Given the description of an element on the screen output the (x, y) to click on. 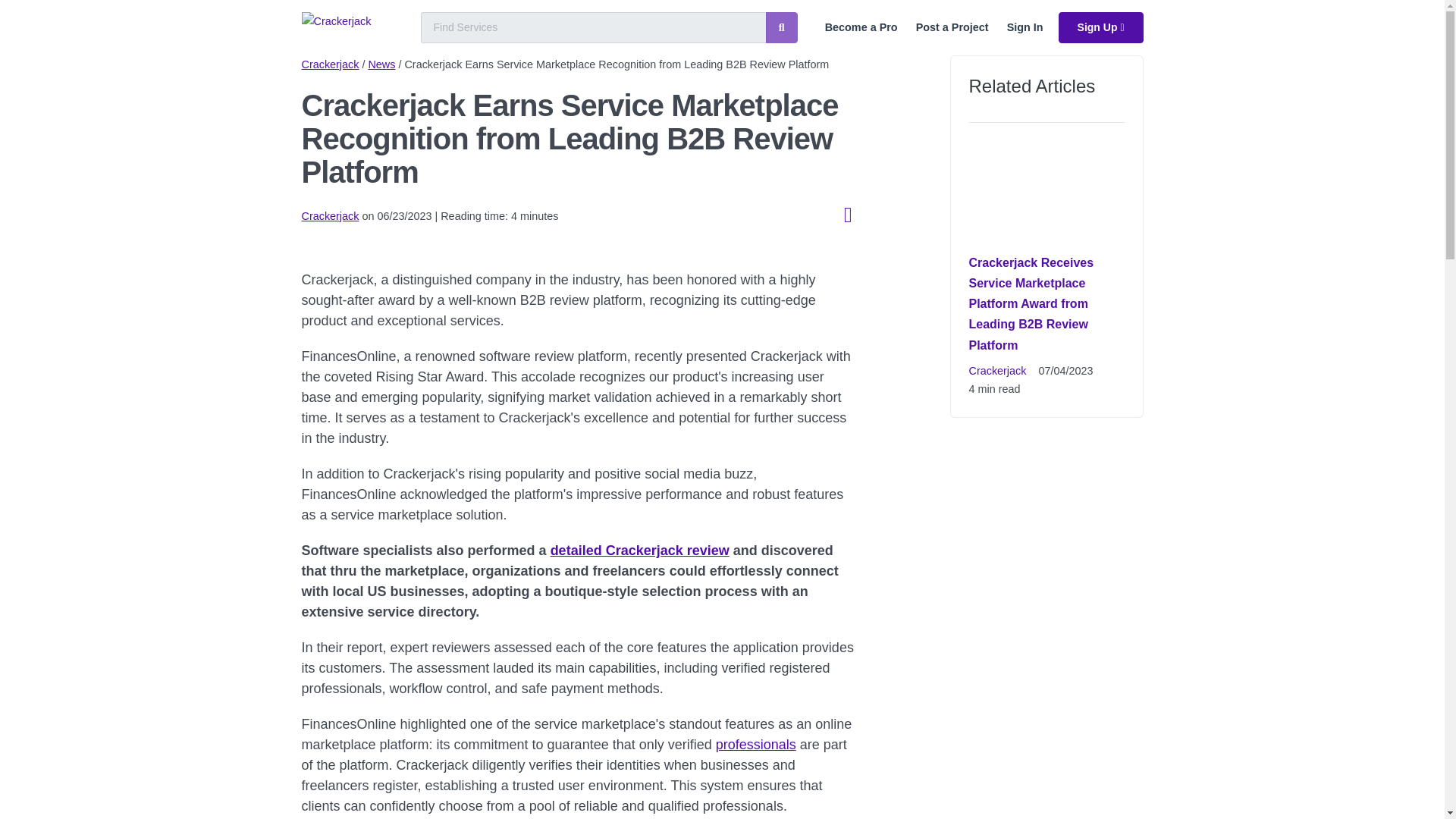
Become a Pro (861, 27)
Crackerjack (330, 64)
Sign In (1024, 27)
Sign Up (1100, 27)
detailed Crackerjack review (639, 549)
Post by Crackerjack (330, 215)
Crackerjack (997, 370)
Search services (781, 27)
